Given the description of an element on the screen output the (x, y) to click on. 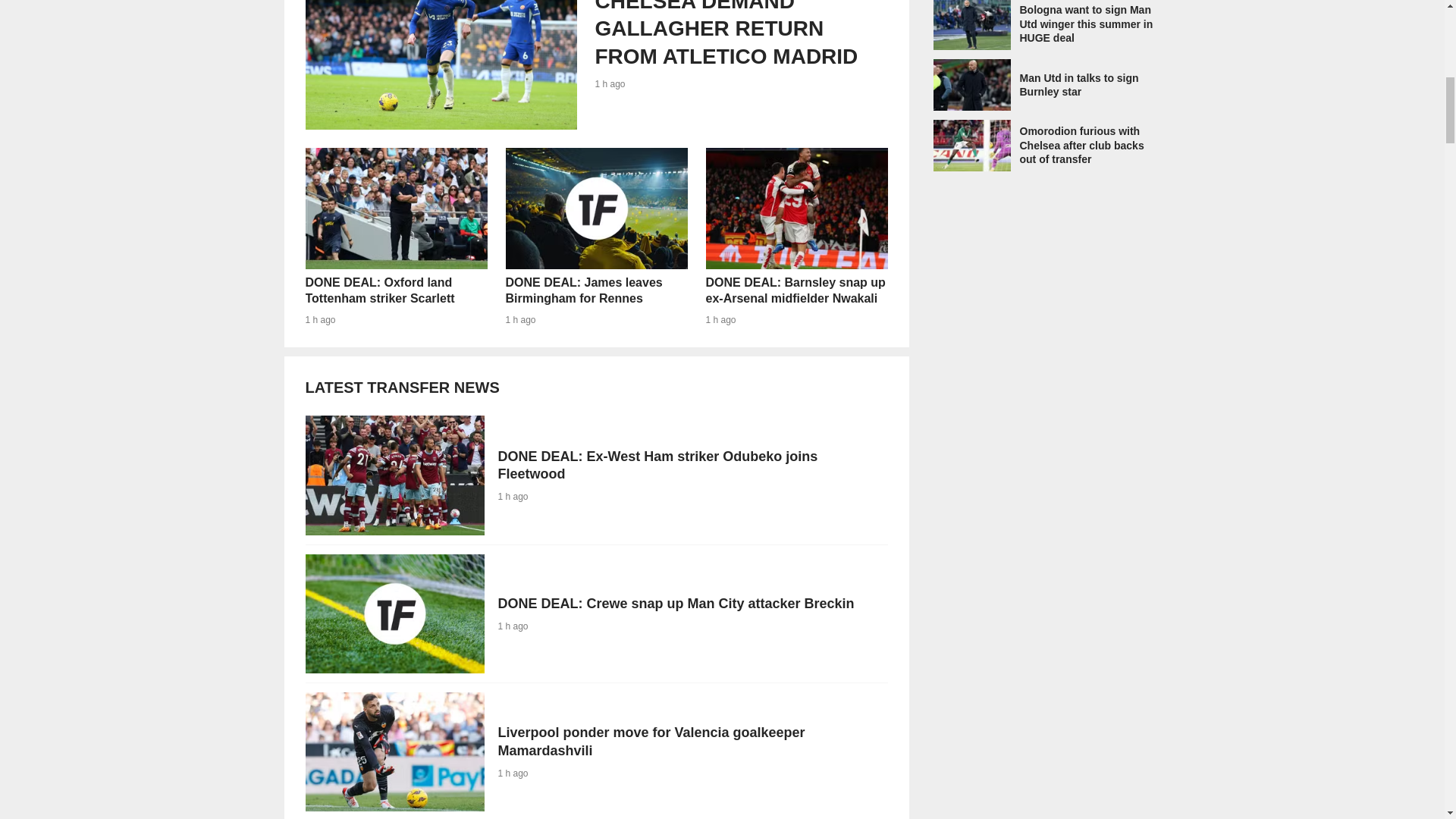
DONE DEAL: Barnsley snap up ex-Arsenal midfielder Nwakali (795, 208)
DONE DEAL: Ex-West Ham striker Odubeko joins Fleetwood (595, 613)
Chelsea demand Gallagher return from Atletico Madrid (595, 64)
DONE DEAL: Oxford land Tottenham striker Scarlett (395, 237)
DONE DEAL: James leaves Birmingham for Rennes (595, 474)
DONE DEAL: Barnsley snap up ex-Arsenal midfielder Nwakali (595, 64)
